Given the description of an element on the screen output the (x, y) to click on. 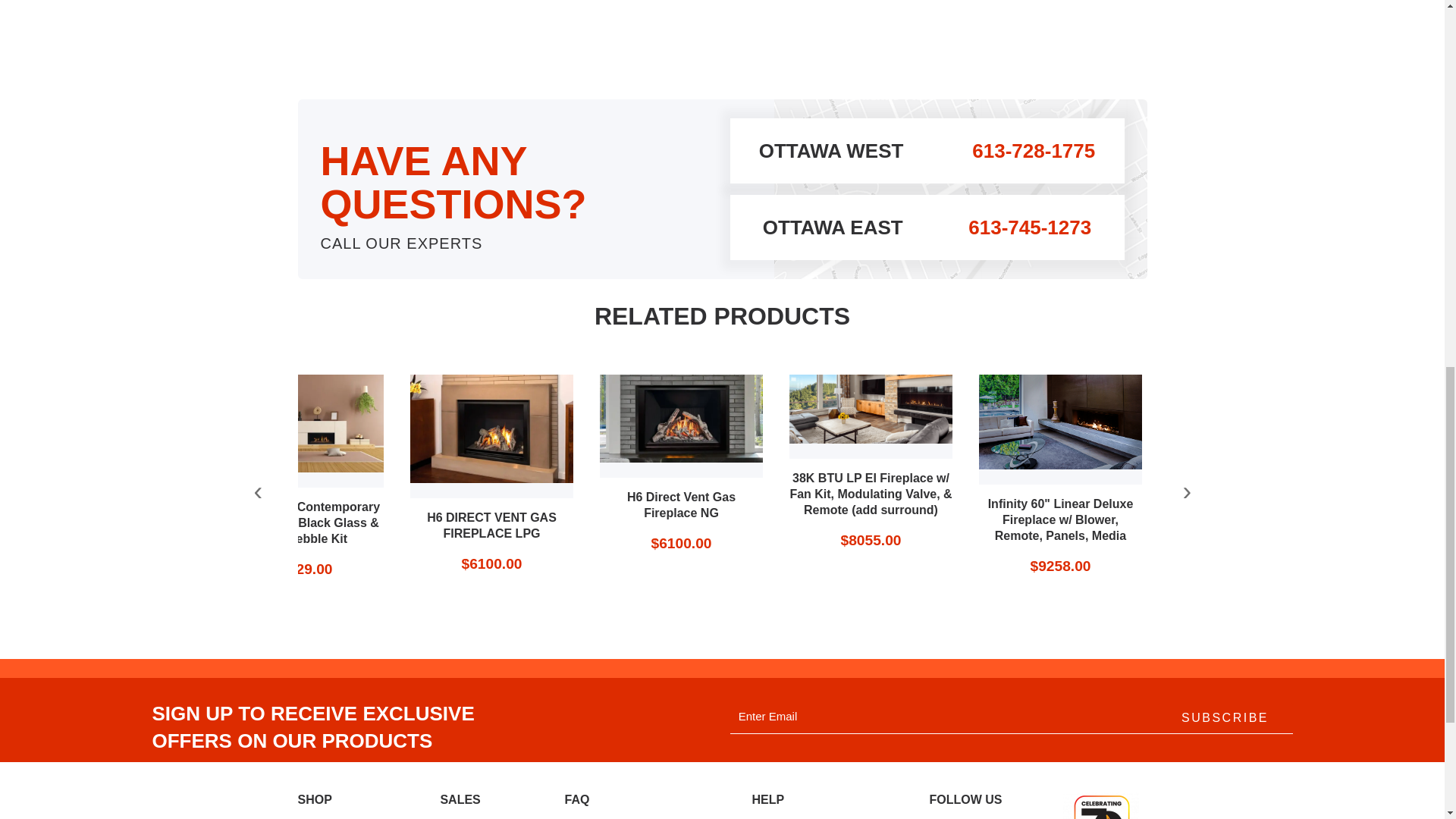
70th-Anniversary (1100, 805)
